Given the description of an element on the screen output the (x, y) to click on. 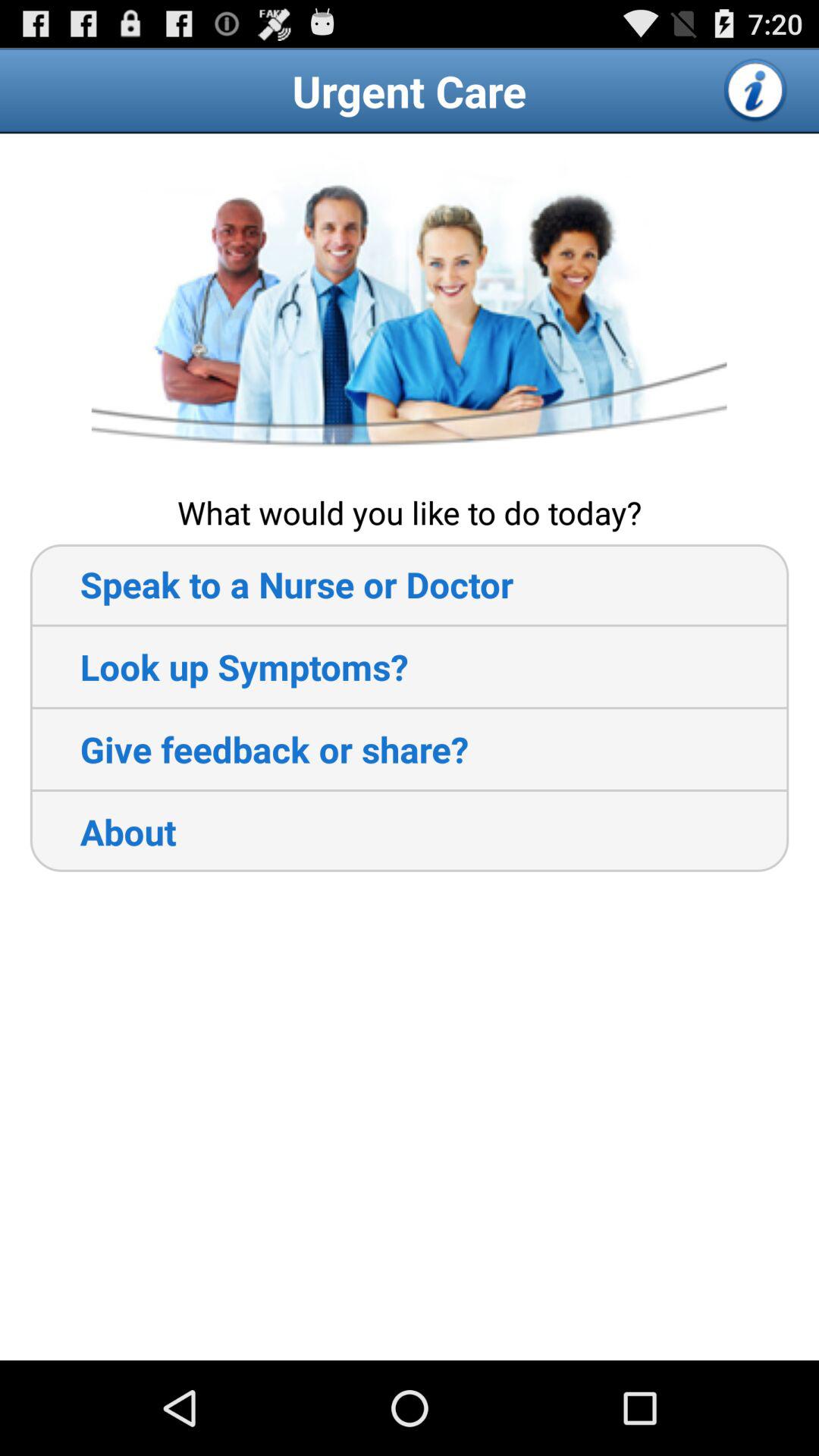
click speak to a icon (271, 584)
